Given the description of an element on the screen output the (x, y) to click on. 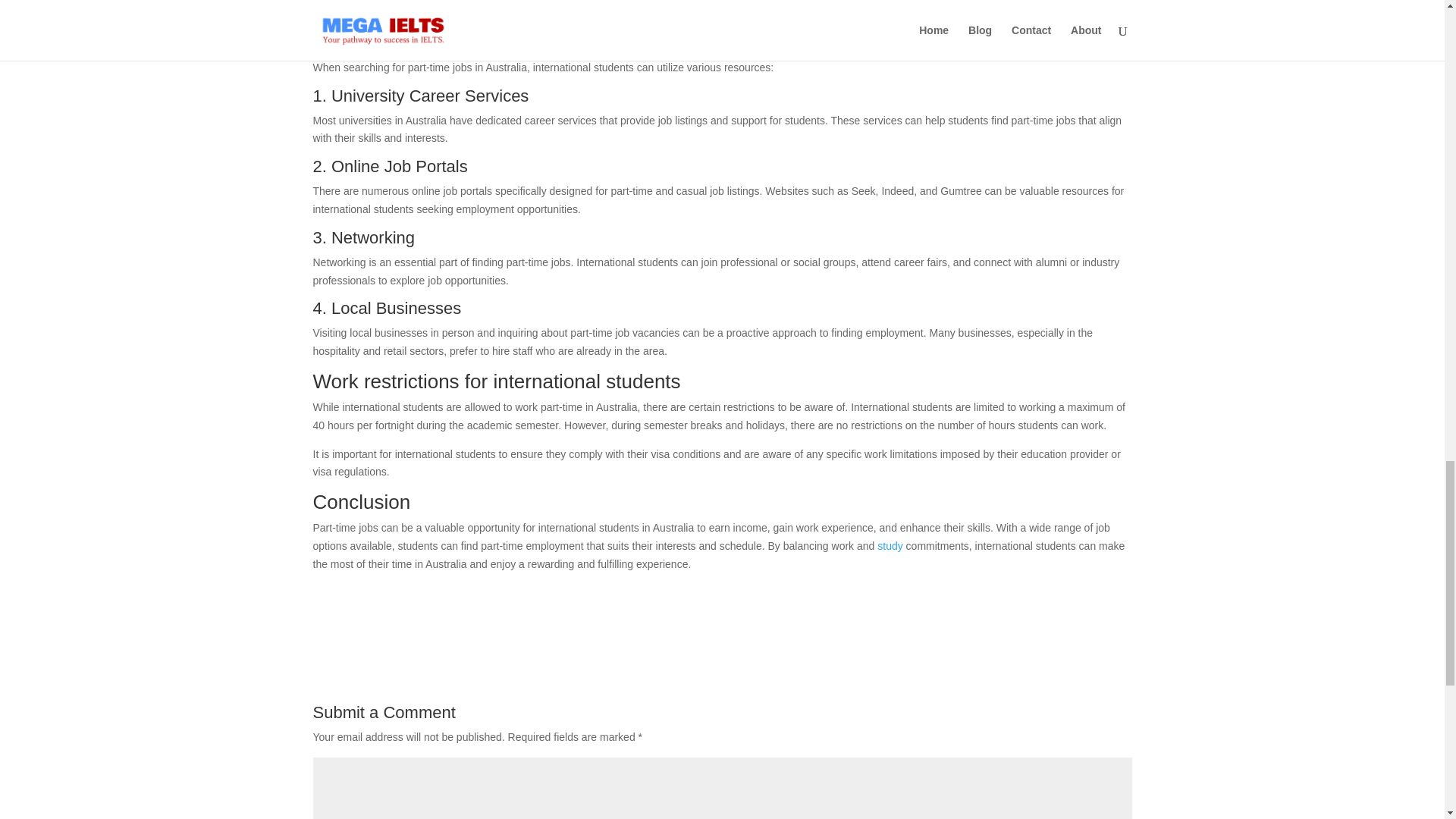
study (888, 545)
